Given the description of an element on the screen output the (x, y) to click on. 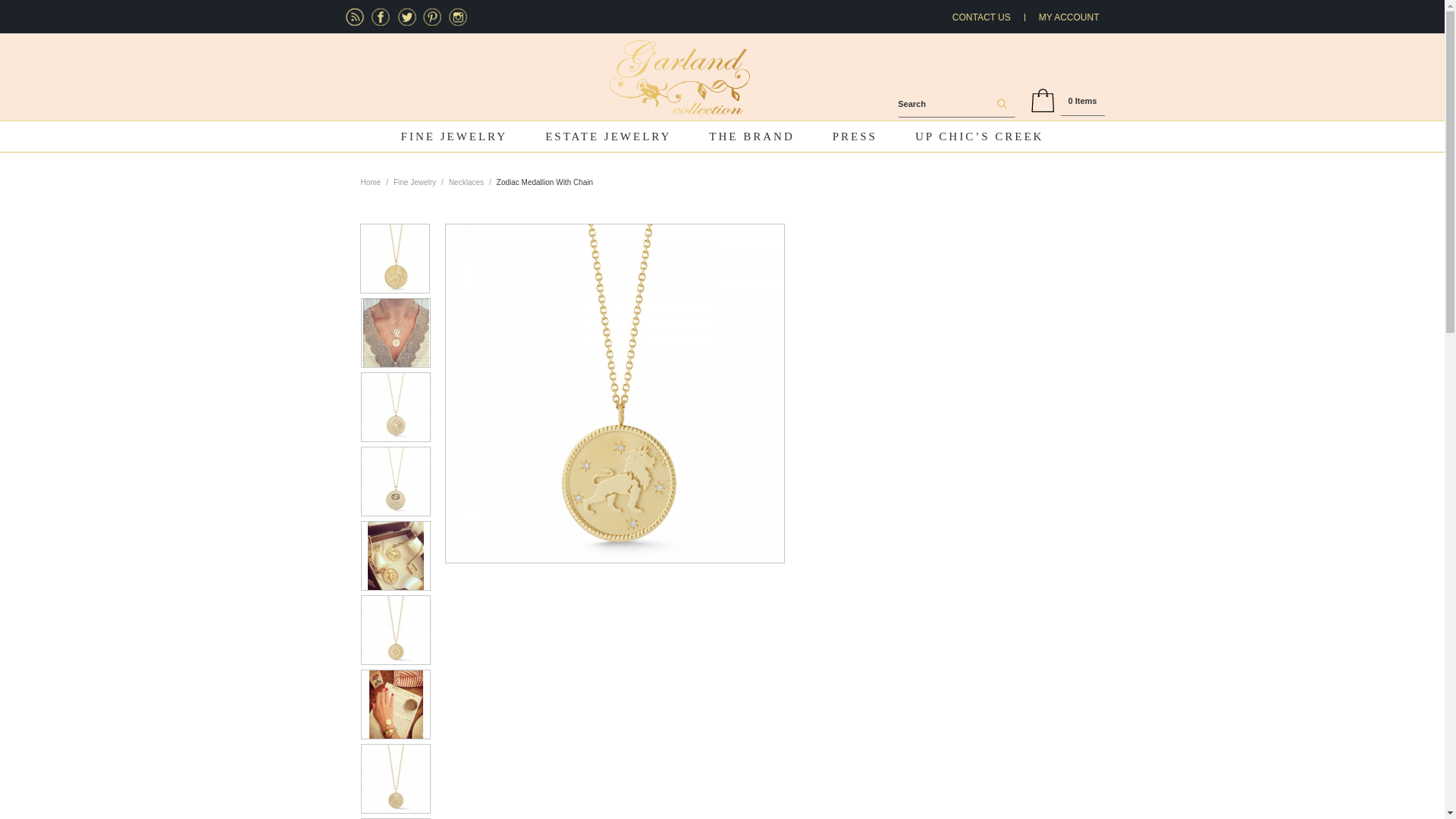
ESTATE JEWELRY (607, 136)
FINE JEWELRY (454, 136)
MY ACCOUNT (1069, 17)
Zodiac Medallion with Chain (614, 393)
My Account (1069, 17)
Search (999, 105)
Go to Home Page (371, 182)
Zodiac Medallion with Chain (394, 258)
PRESS (854, 136)
0 Items (1082, 100)
